Given the description of an element on the screen output the (x, y) to click on. 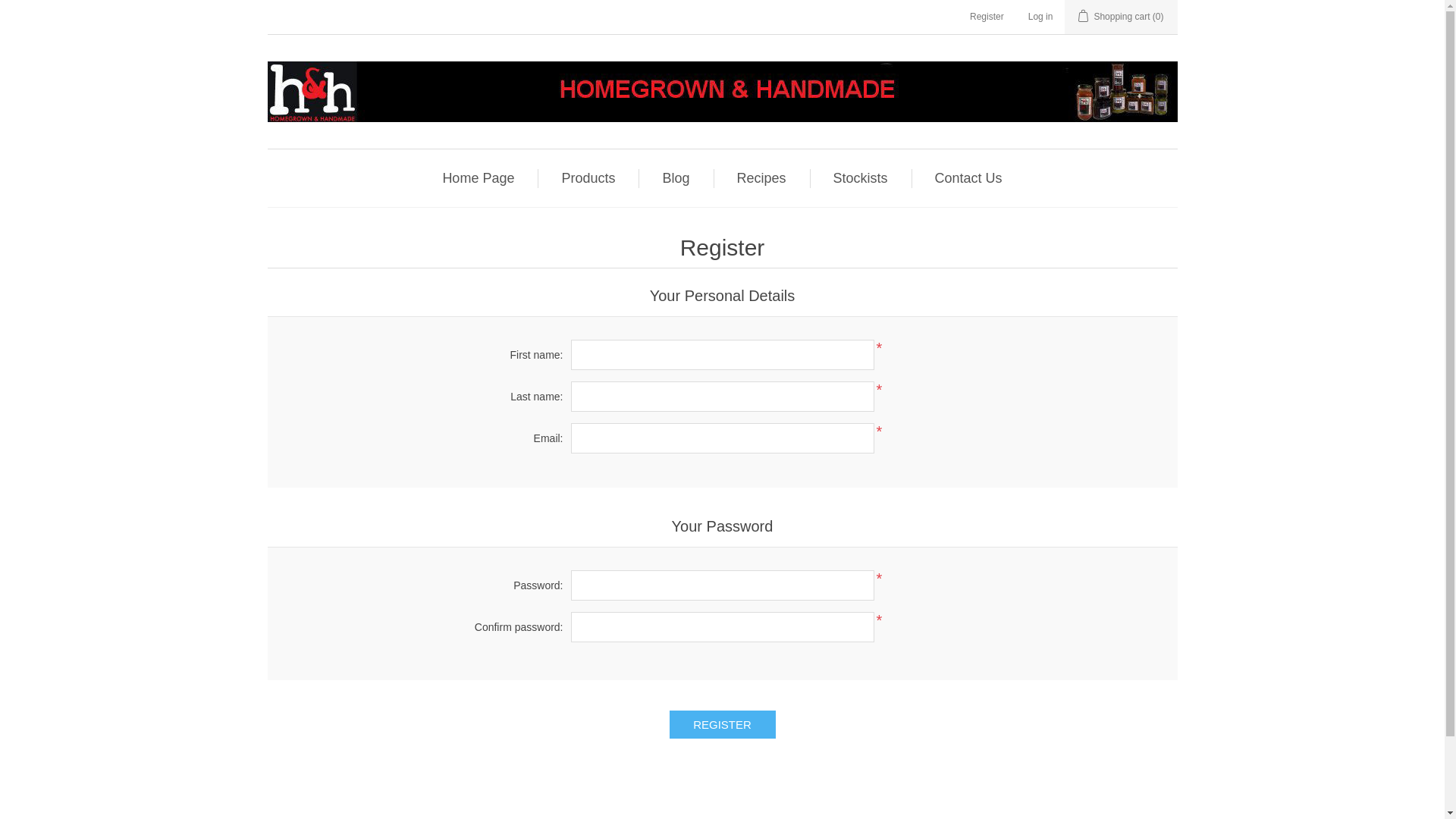
Register Element type: text (986, 17)
Blog Element type: text (675, 178)
Recipes Element type: text (761, 178)
Log in Element type: text (1040, 17)
Products Element type: text (587, 178)
Contact Us Element type: text (968, 178)
Register Element type: text (721, 724)
Home Page Element type: text (477, 178)
Shopping cart (0) Element type: text (1120, 17)
Stockists Element type: text (860, 178)
